Given the description of an element on the screen output the (x, y) to click on. 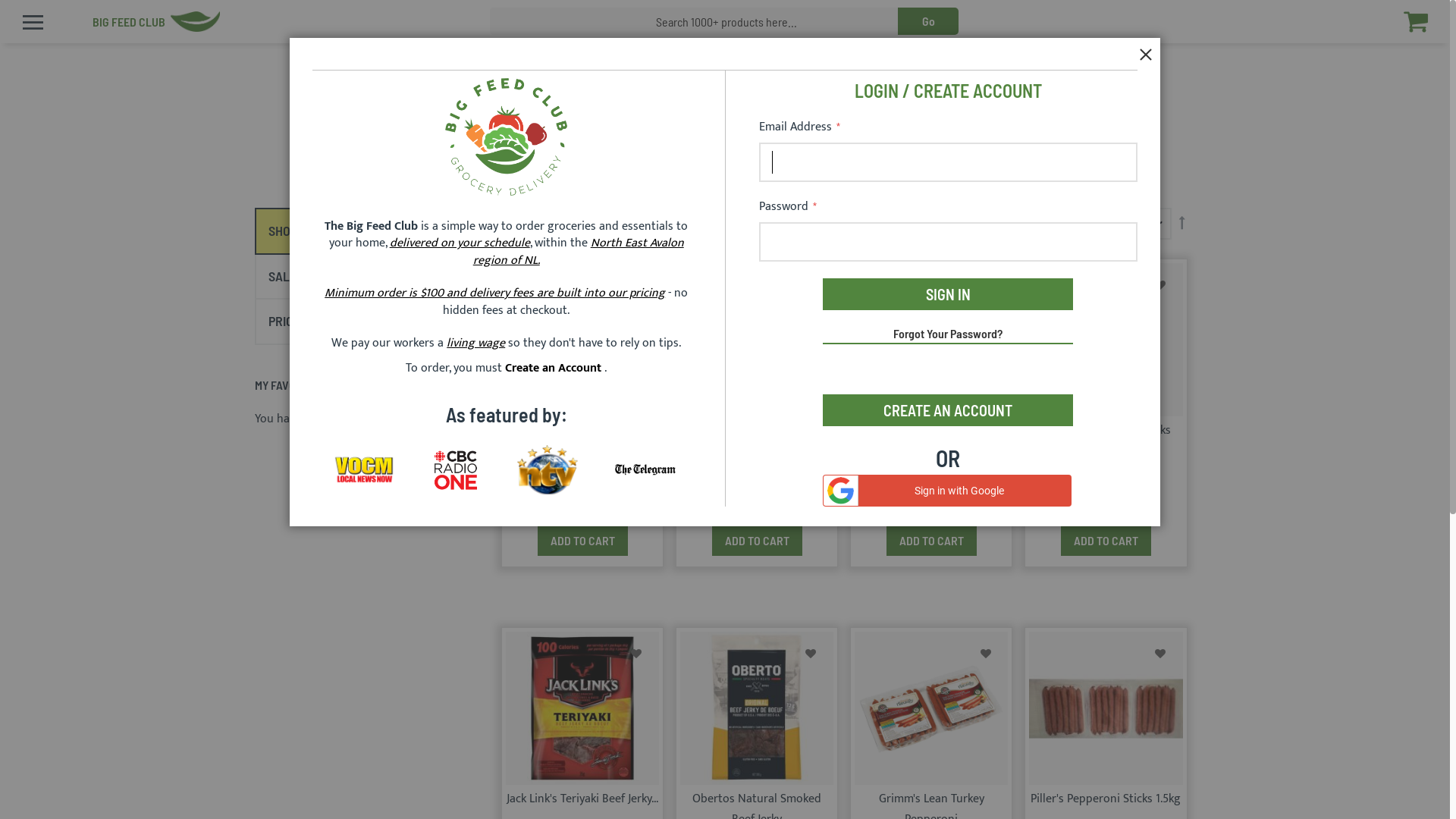
Golden Island Korean Barbecue Pork J... Element type: text (756, 440)
Piller's Pepperoni Sticks 1.5kg Element type: text (1105, 798)
ADD TO WISH LIST Element type: text (984, 653)
Close Element type: text (1148, 48)
SET DESCENDING DIRECTION Element type: text (1182, 223)
ADD TO CART Element type: text (1105, 540)
North East Avalon region of NL. Element type: text (578, 251)
ADD TO WISH LIST Element type: text (1160, 653)
Sign in with Google Element type: text (946, 490)
delivered on your schedule Element type: text (459, 242)
ADD TO WISH LIST Element type: text (810, 653)
Jack Link's Teriyaki Beef Jerky Element type: text (582, 430)
Forgot Your Password? Element type: text (947, 334)
My Cart Element type: text (1425, 21)
ADD TO WISH LIST Element type: text (810, 285)
Jack Link's Teriyaki Beef Jerky... Element type: text (582, 798)
ADD TO WISH LIST Element type: text (984, 285)
ADD TO WISH LIST Element type: text (1160, 285)
ADD TO WISH LIST Element type: text (636, 653)
Go Element type: text (927, 20)
ADD TO CART Element type: text (582, 540)
TREATS Element type: text (317, 25)
ADD TO CART Element type: text (757, 540)
SIGN IN Element type: text (947, 294)
Kirkland Signature Extra Thick Steak... Element type: text (931, 440)
HOME Element type: text (267, 25)
Create an Account Element type: text (554, 367)
Jack Link's Protein Snacks Orig... Element type: text (1105, 440)
ADD TO WISH LIST Element type: text (636, 285)
CREATE AN ACCOUNT Element type: text (947, 410)
ADD TO CART Element type: text (931, 540)
living wage Element type: text (475, 342)
